Given the description of an element on the screen output the (x, y) to click on. 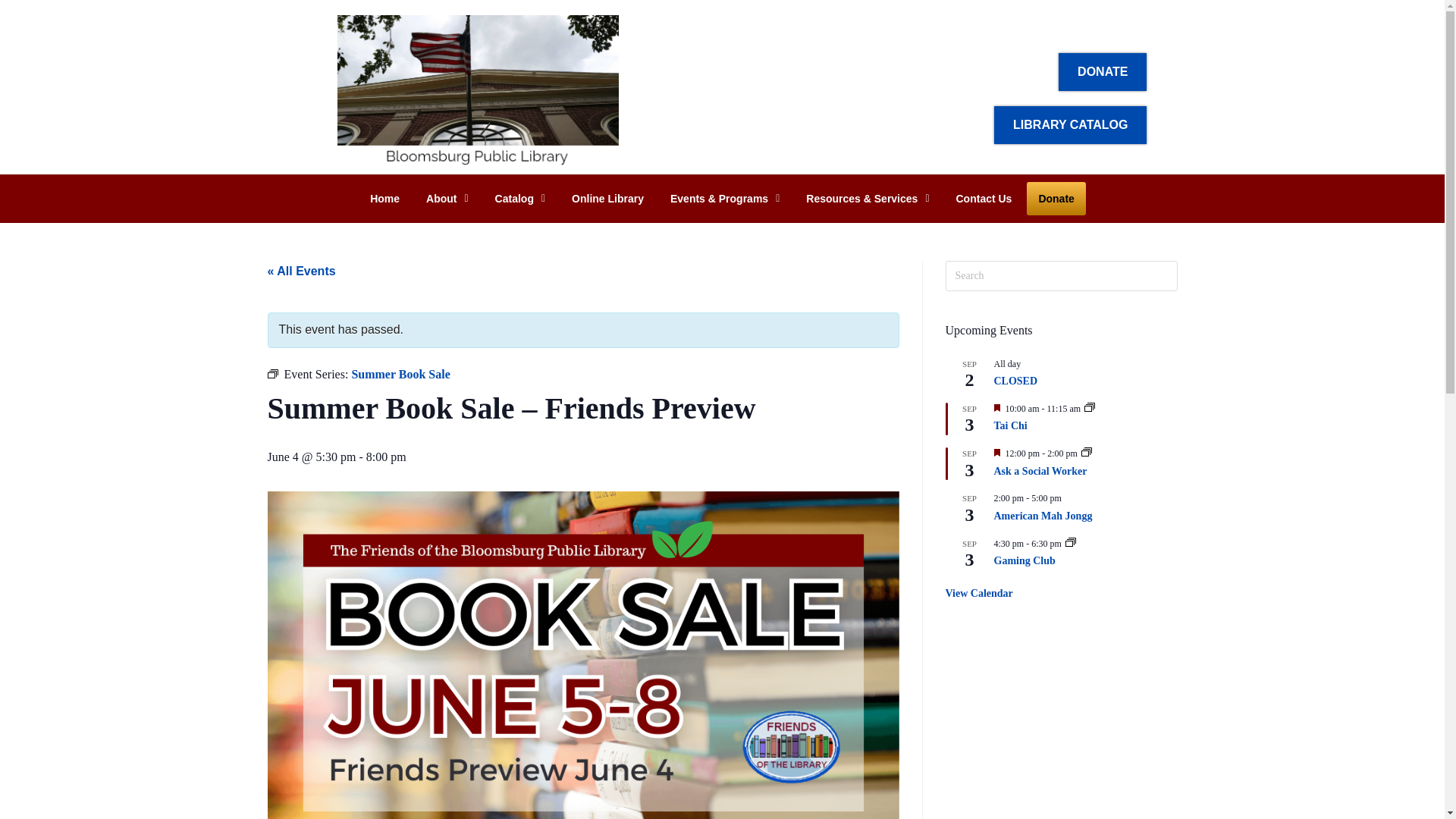
CLOSED (1014, 381)
Donate (1055, 198)
Event Series (1089, 406)
DONATE (1102, 71)
Tai Chi (1009, 426)
Contact Us (983, 198)
Summer Book Sale (399, 373)
Event Series (1070, 542)
Event Series (1086, 451)
Online Library (607, 198)
